Given the description of an element on the screen output the (x, y) to click on. 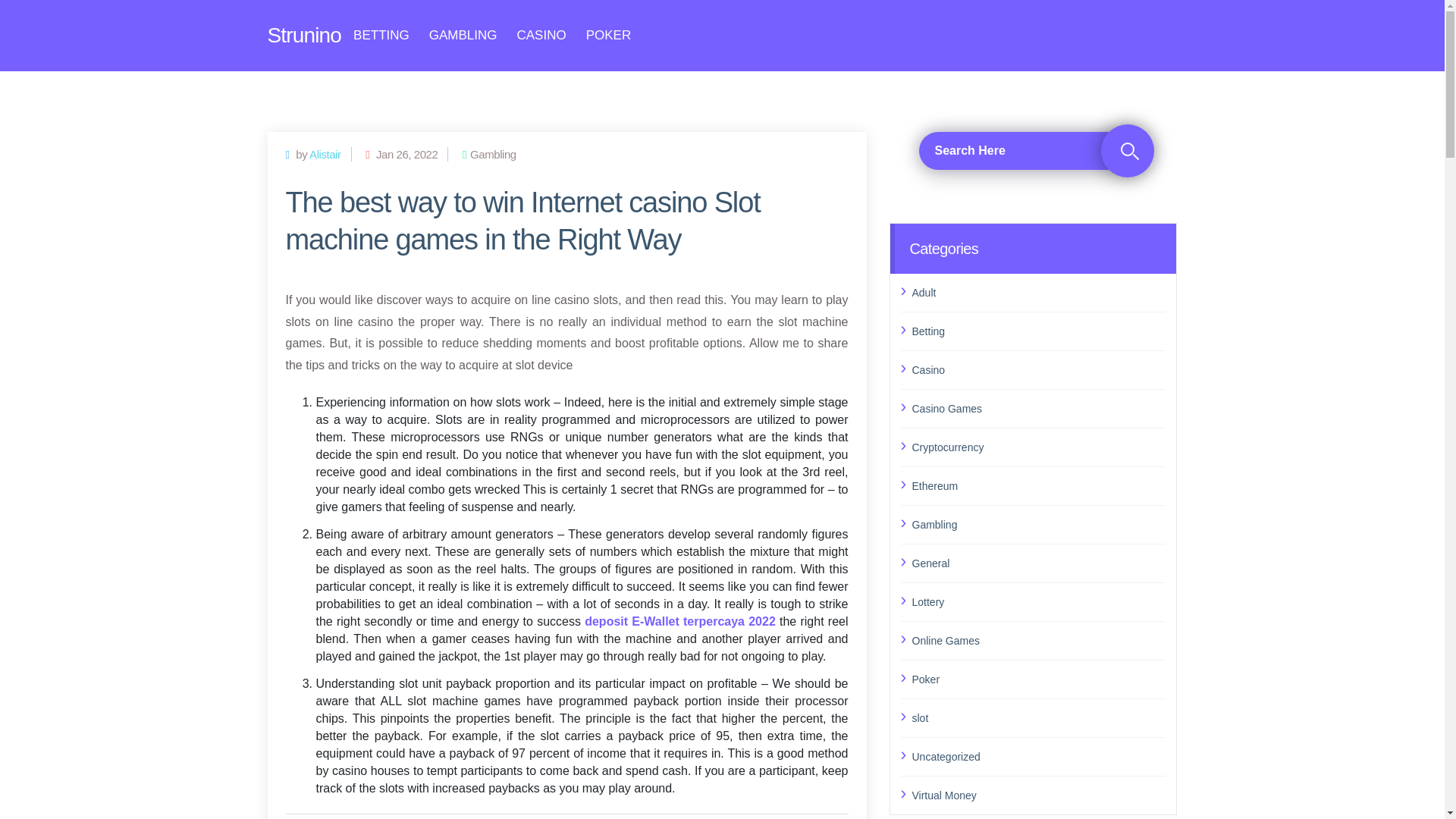
Casino (1038, 369)
BETTING (381, 35)
slot (1038, 718)
Virtual Money (1038, 795)
Ethereum (1038, 485)
POKER (608, 35)
Uncategorized (1038, 755)
Lottery (1038, 600)
Casino Games (1038, 408)
Online Games (1038, 640)
